Given the description of an element on the screen output the (x, y) to click on. 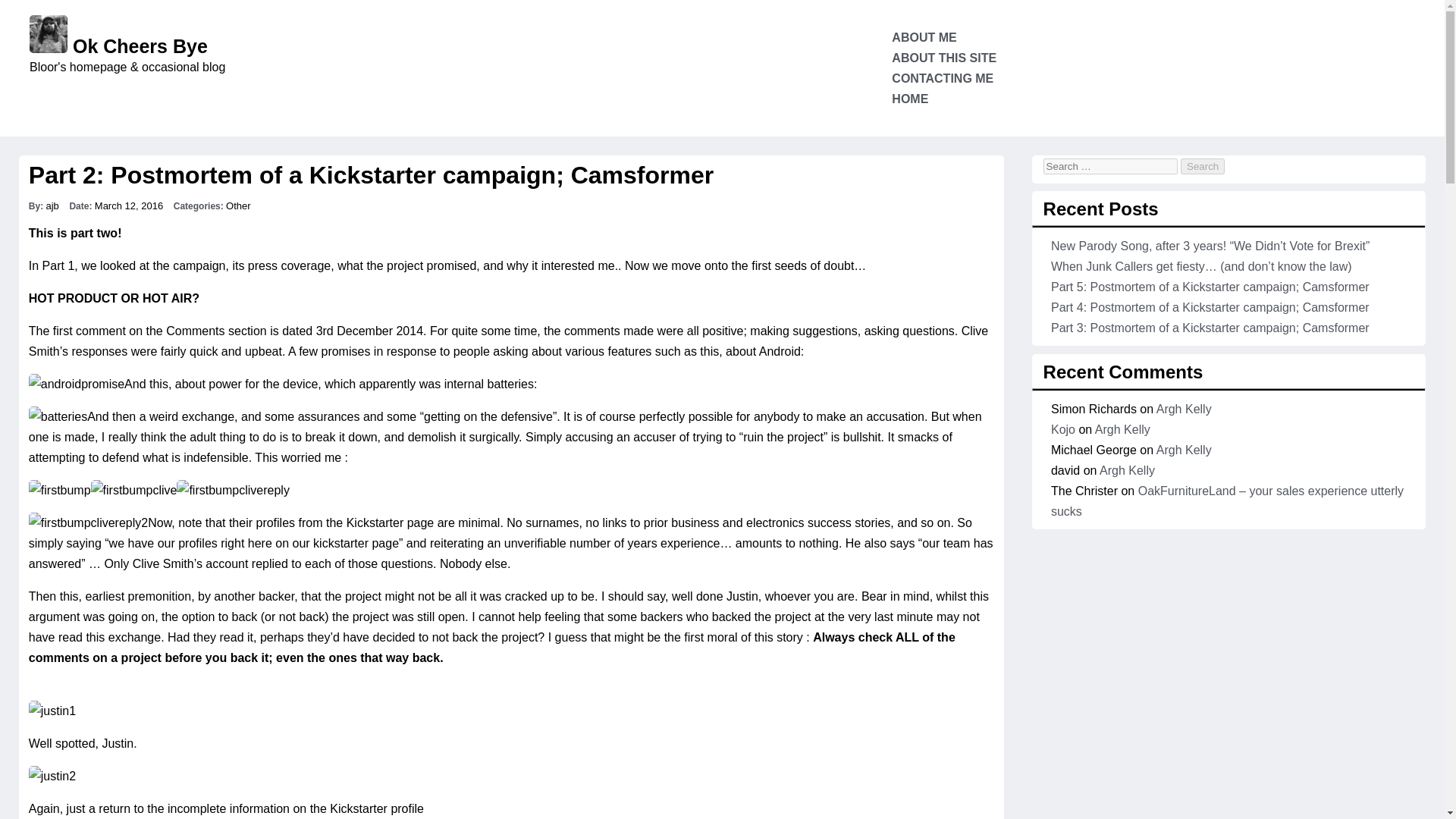
Other (237, 205)
Search (1202, 166)
Posts by ajb (51, 205)
Search (1202, 166)
Part 1 (58, 265)
ajb (51, 205)
HOME (909, 98)
ABOUT THIS SITE (943, 57)
Part 2: Postmortem of a Kickstarter campaign; Camsformer (371, 175)
ABOUT ME (923, 37)
